Given the description of an element on the screen output the (x, y) to click on. 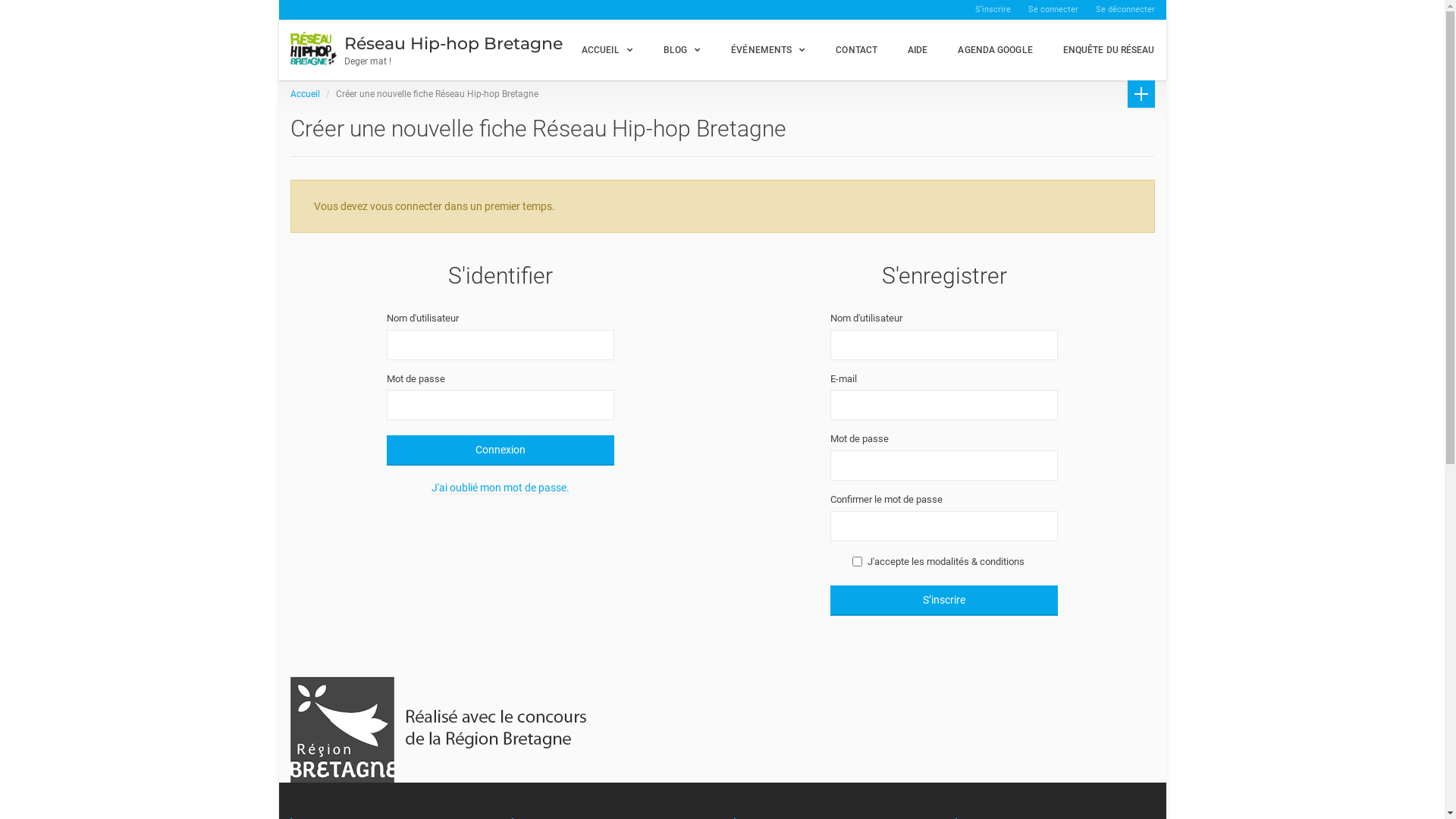
ACCUEIL Element type: text (607, 49)
Se connecter Element type: text (1053, 9)
CONTACT Element type: text (856, 49)
BLOG Element type: text (682, 49)
AGENDA GOOGLE Element type: text (994, 49)
AIDE Element type: text (917, 49)
Connexion Element type: text (500, 450)
Accueil Element type: text (304, 93)
